Given the description of an element on the screen output the (x, y) to click on. 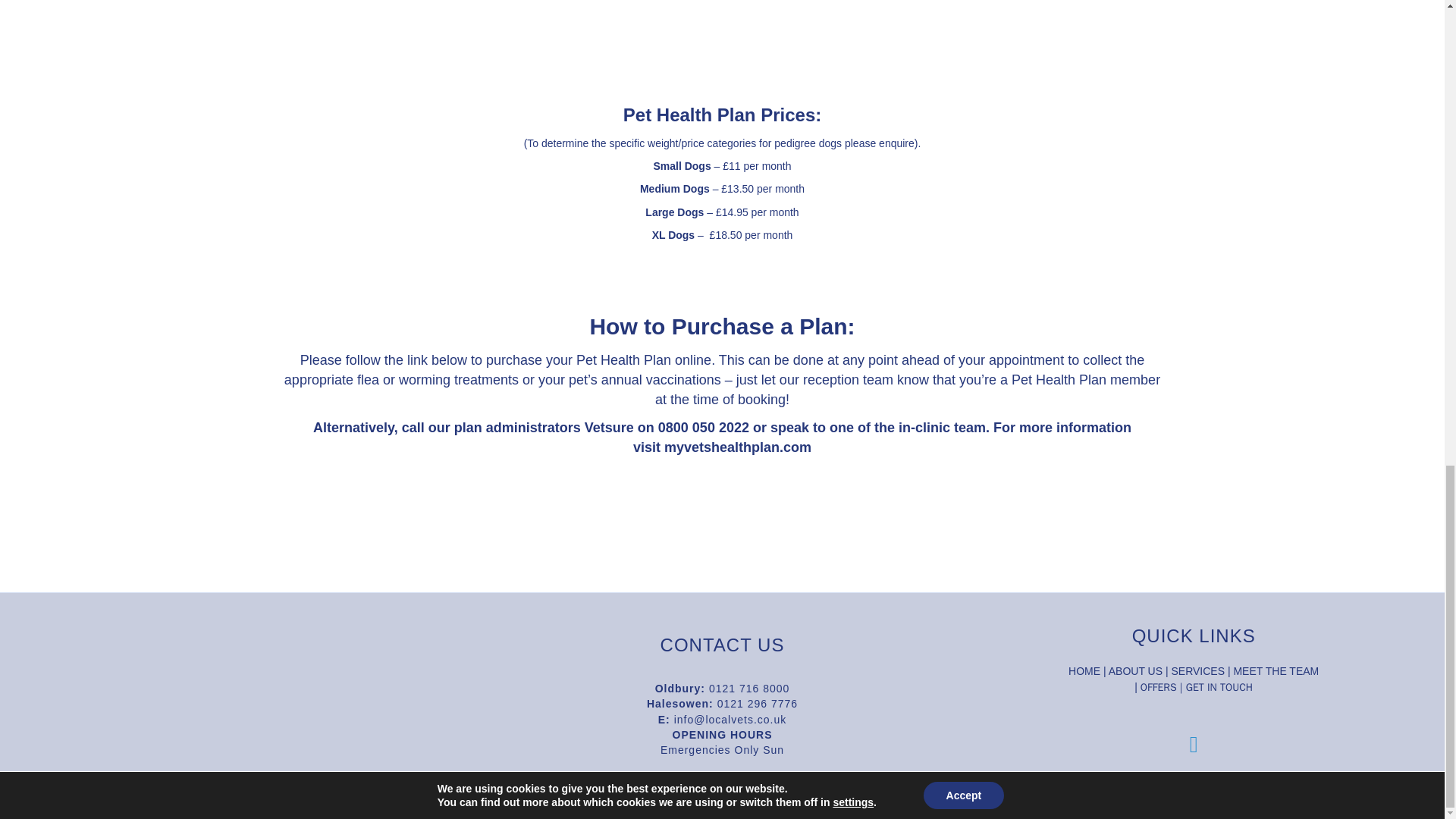
Vetsure (609, 427)
myvetshealthplan.com (736, 447)
Pet-Health-Plan-Prices (722, 54)
button-test (721, 520)
Paw Heatbeat logo new dark (250, 699)
0121 716 8000 (749, 688)
0121 296 7776 (757, 703)
0800 050 2022 (703, 427)
